Given the description of an element on the screen output the (x, y) to click on. 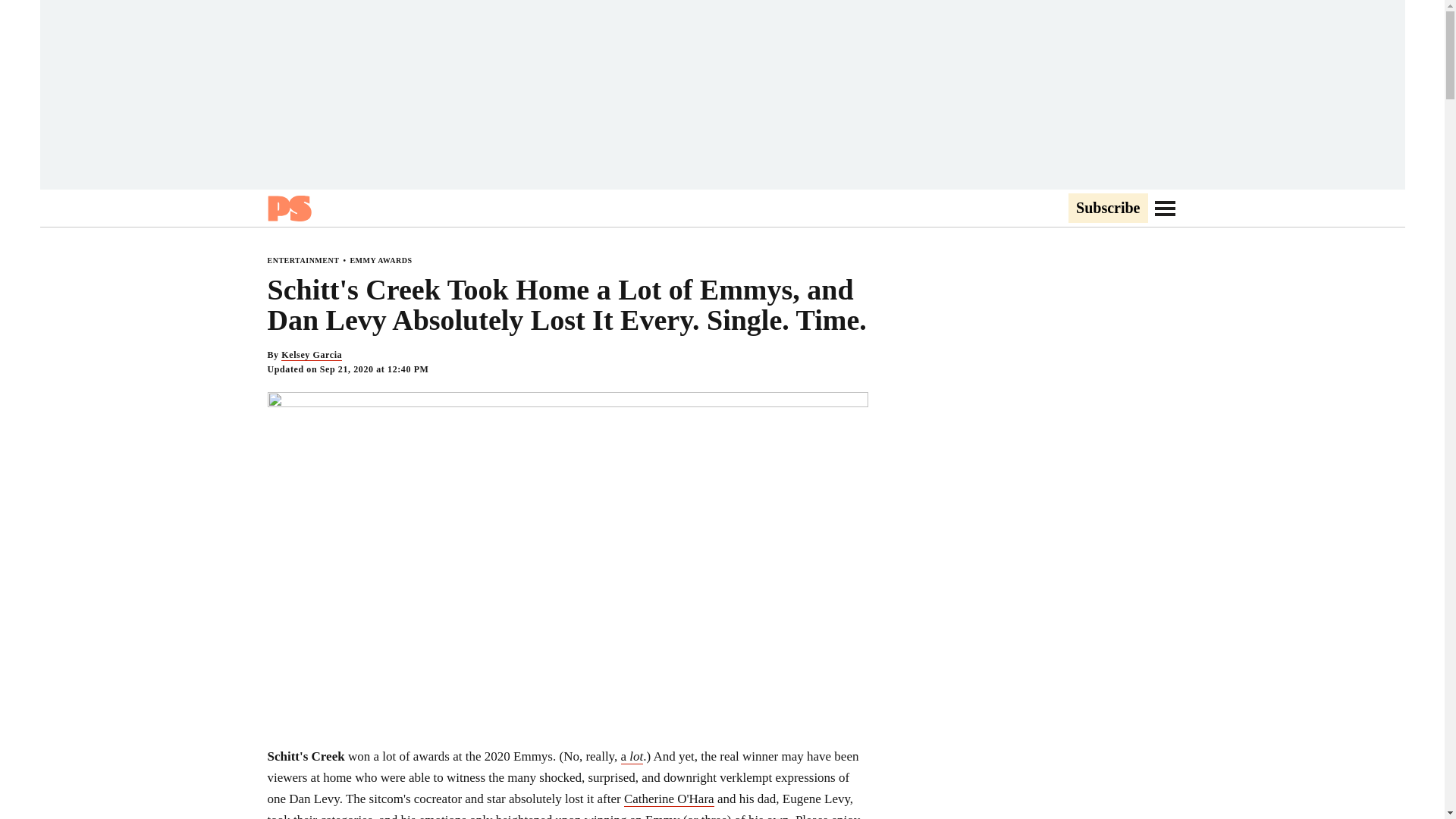
Subscribe (1107, 208)
Go to Navigation (1164, 207)
Kelsey Garcia (311, 355)
Popsugar (288, 208)
a lot (632, 756)
ENTERTAINMENT (302, 260)
Go to Navigation (1164, 207)
Catherine O'Hara (669, 798)
EMMY AWARDS (380, 260)
